Given the description of an element on the screen output the (x, y) to click on. 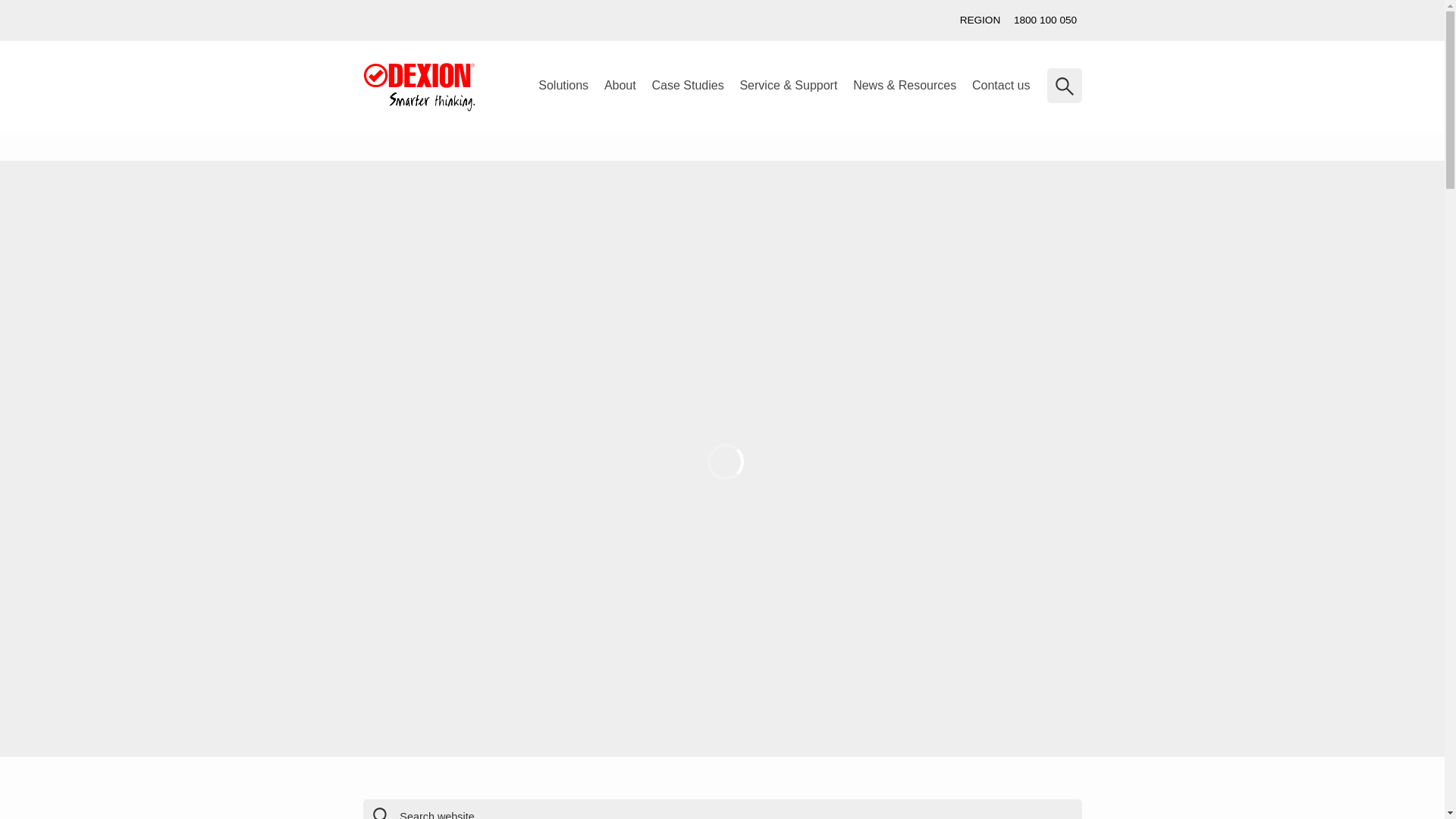
Contact us Element type: text (62, 288)
Contact us Element type: text (1001, 85)
Service & Support Element type: text (788, 85)
News & Resources Element type: text (904, 85)
About Element type: text (619, 85)
Solutions Element type: text (563, 85)
1800 100 050 Element type: text (1045, 20)
Dexion - Global Storage solutions Element type: hover (418, 87)
Case Studies Element type: text (687, 85)
REGION Element type: text (980, 20)
